Given the description of an element on the screen output the (x, y) to click on. 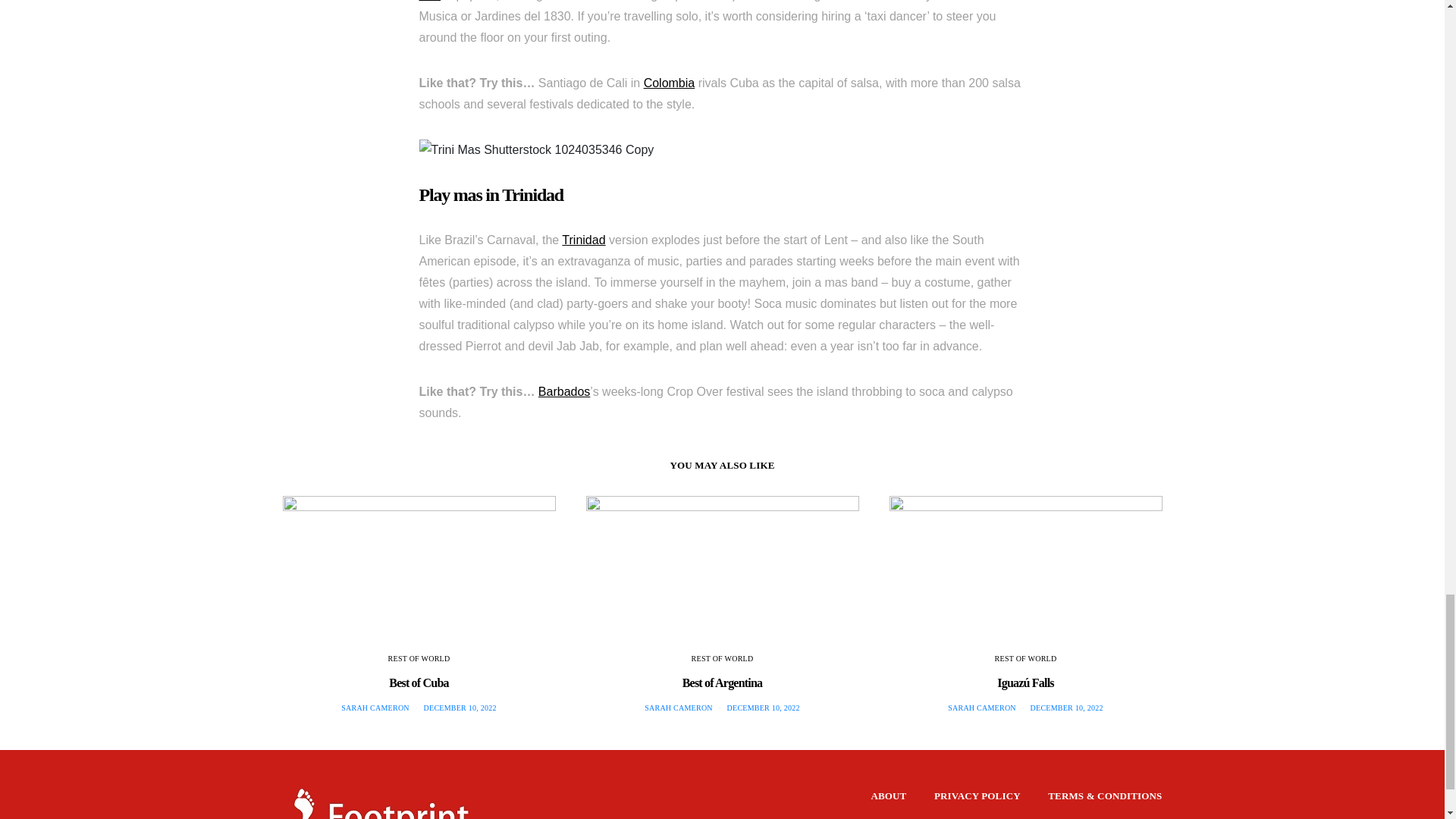
Trinidad (583, 239)
Barbados (564, 391)
View all posts by Sarah Cameron (679, 707)
View all posts by Sarah Cameron (374, 707)
View all posts by Sarah Cameron (981, 707)
Colombia (669, 82)
